Given the description of an element on the screen output the (x, y) to click on. 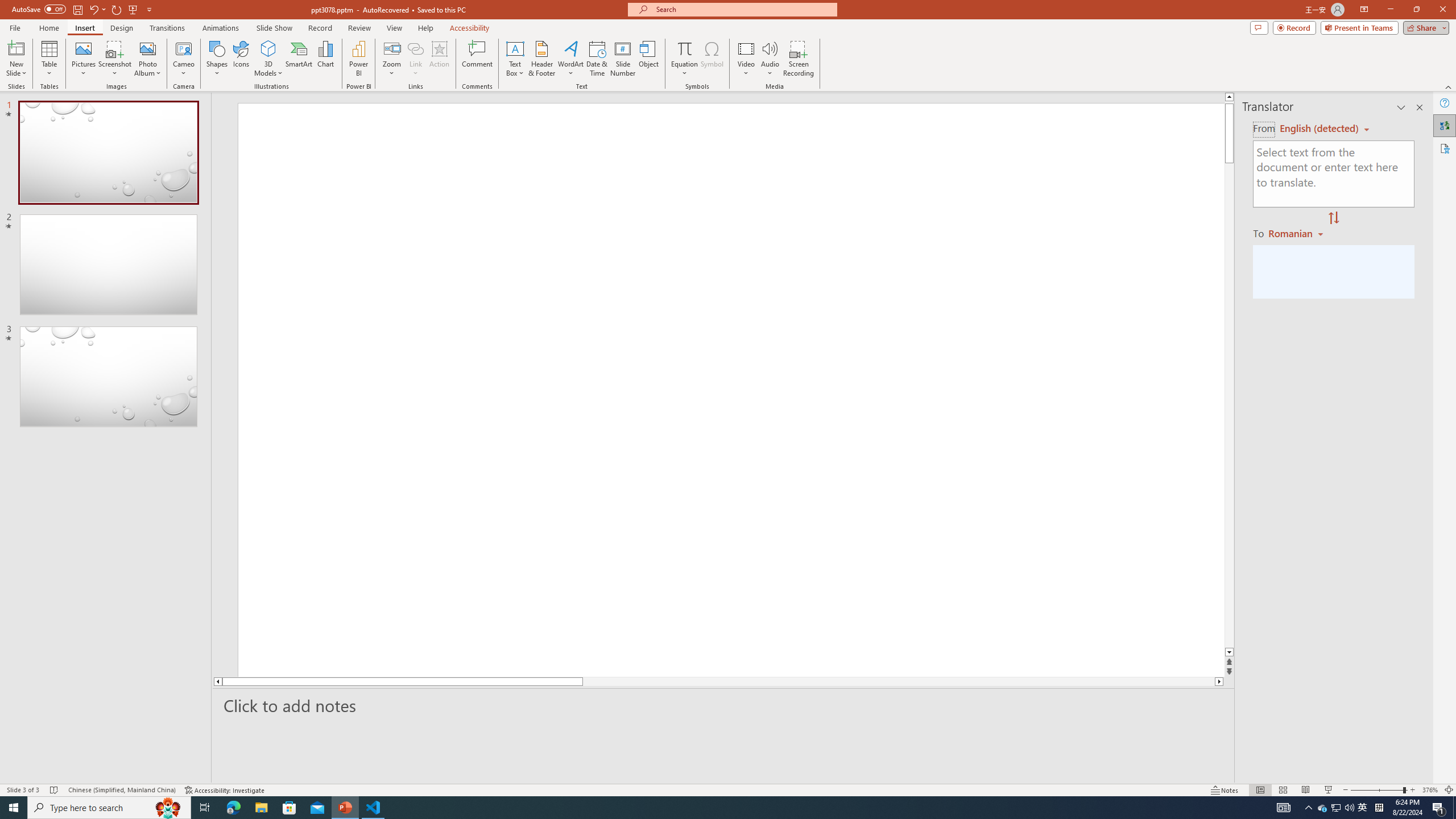
Object... (649, 58)
Symbol... (711, 58)
SmartArt... (298, 58)
Comment (476, 58)
Link (415, 48)
